Given the description of an element on the screen output the (x, y) to click on. 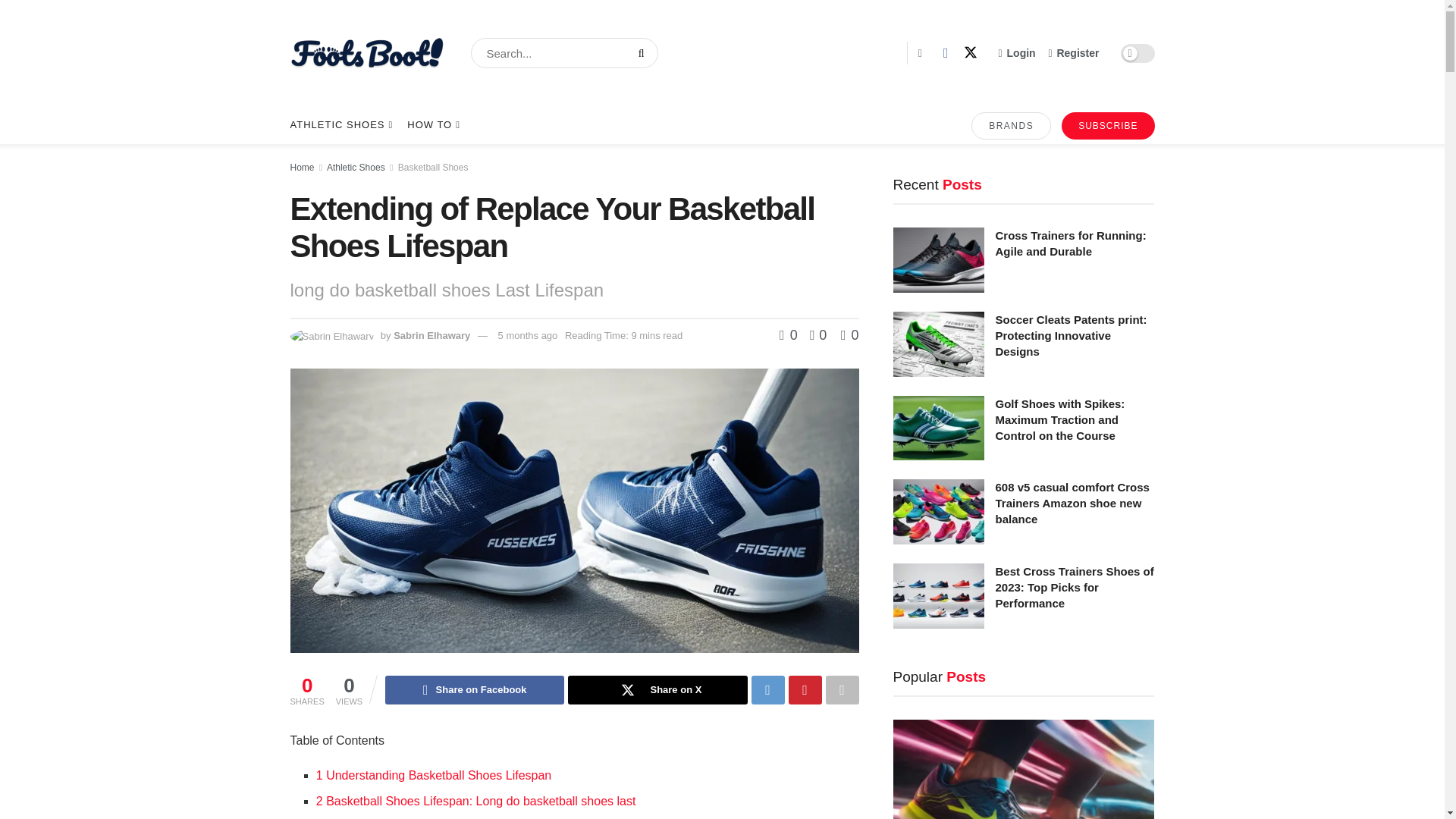
5 months ago (527, 335)
ATHLETIC SHOES (339, 125)
Sabrin Elhawary (431, 335)
BRANDS (1011, 125)
Basketball Shoes (432, 167)
HOW TO (432, 125)
Login (1016, 53)
Register (1073, 53)
SUBSCRIBE (1107, 125)
